Given the description of an element on the screen output the (x, y) to click on. 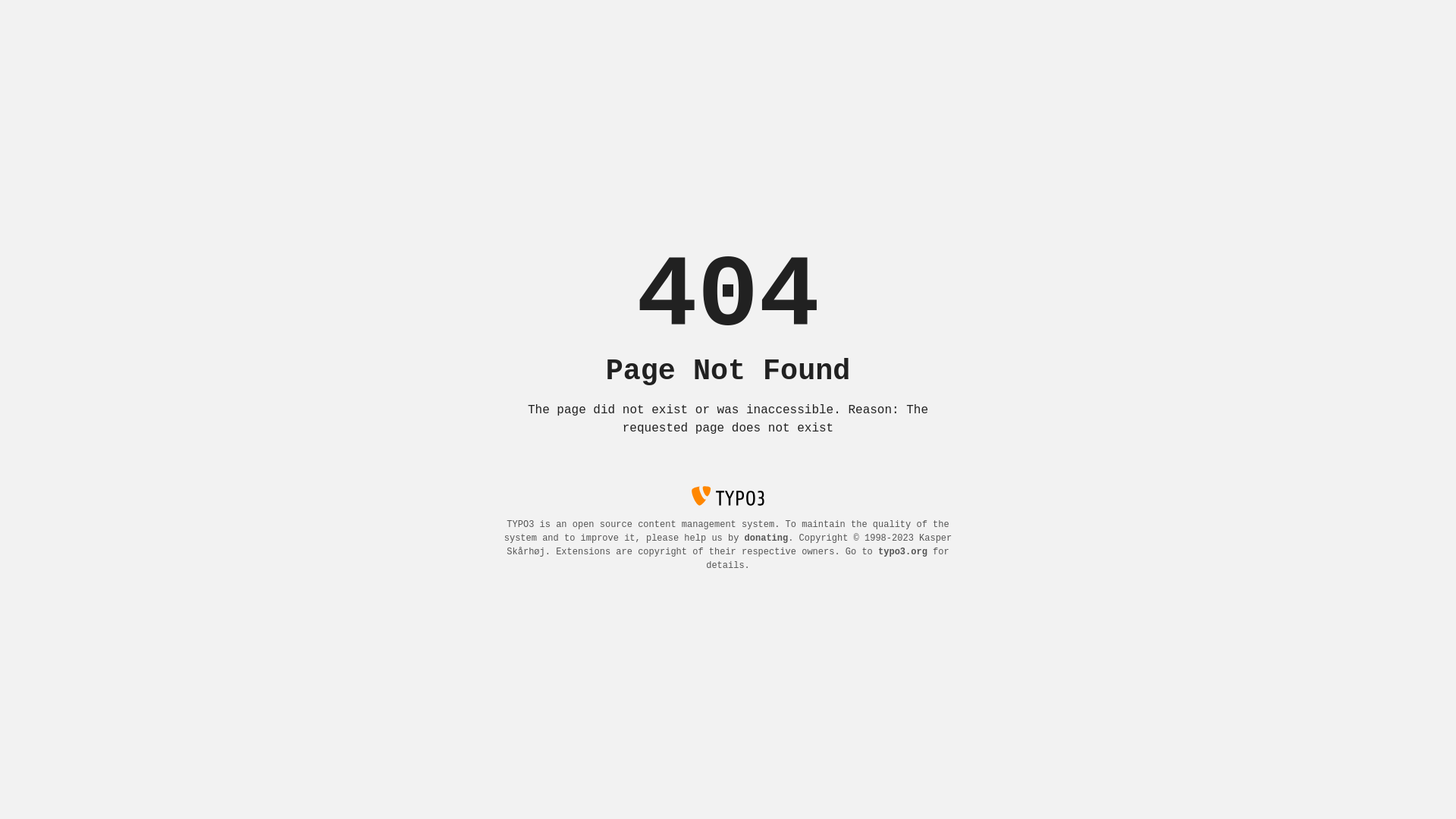
typo3.org Element type: text (902, 551)
donating Element type: text (766, 538)
